Given the description of an element on the screen output the (x, y) to click on. 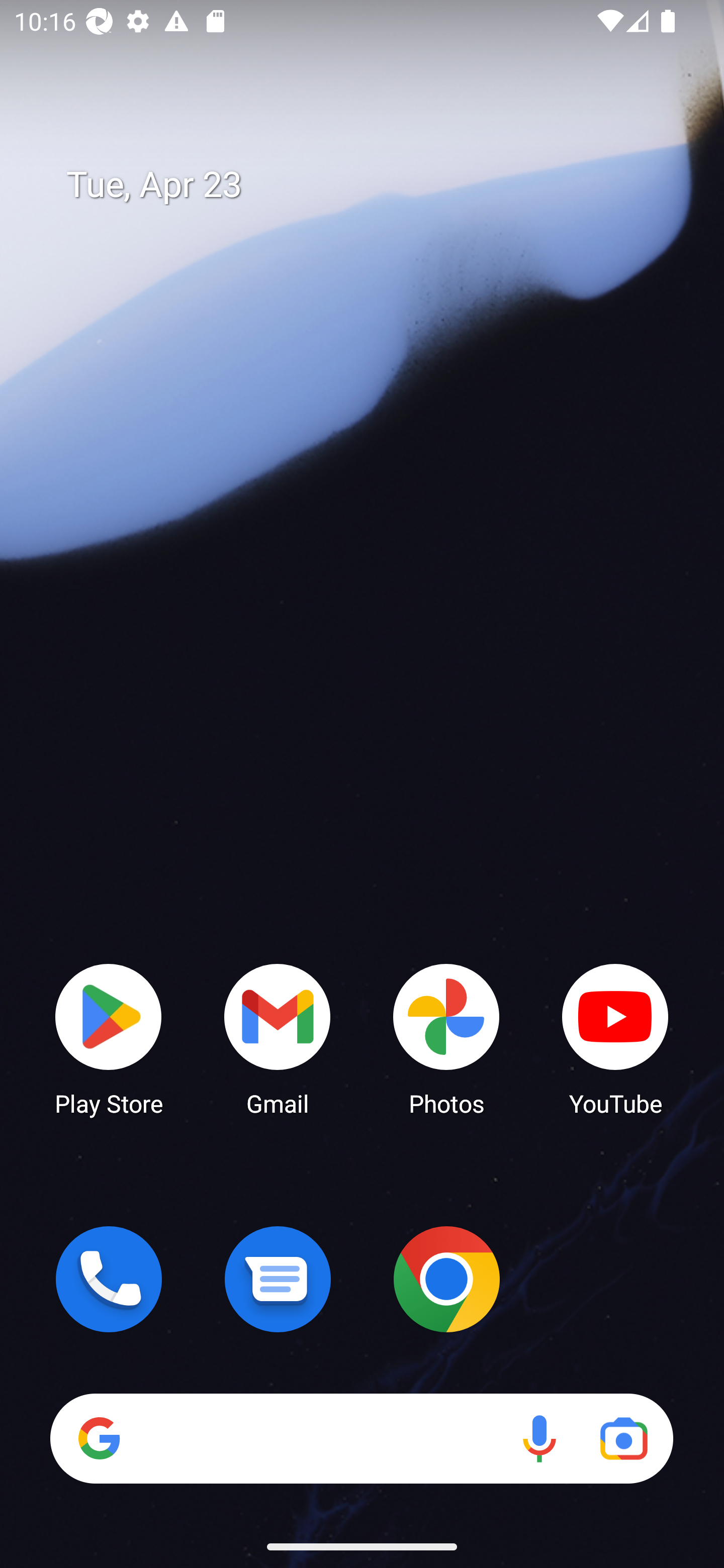
Tue, Apr 23 (375, 184)
Play Store (108, 1038)
Gmail (277, 1038)
Photos (445, 1038)
YouTube (615, 1038)
Phone (108, 1279)
Messages (277, 1279)
Chrome (446, 1279)
Search Voice search Google Lens (361, 1438)
Voice search (539, 1438)
Google Lens (623, 1438)
